Given the description of an element on the screen output the (x, y) to click on. 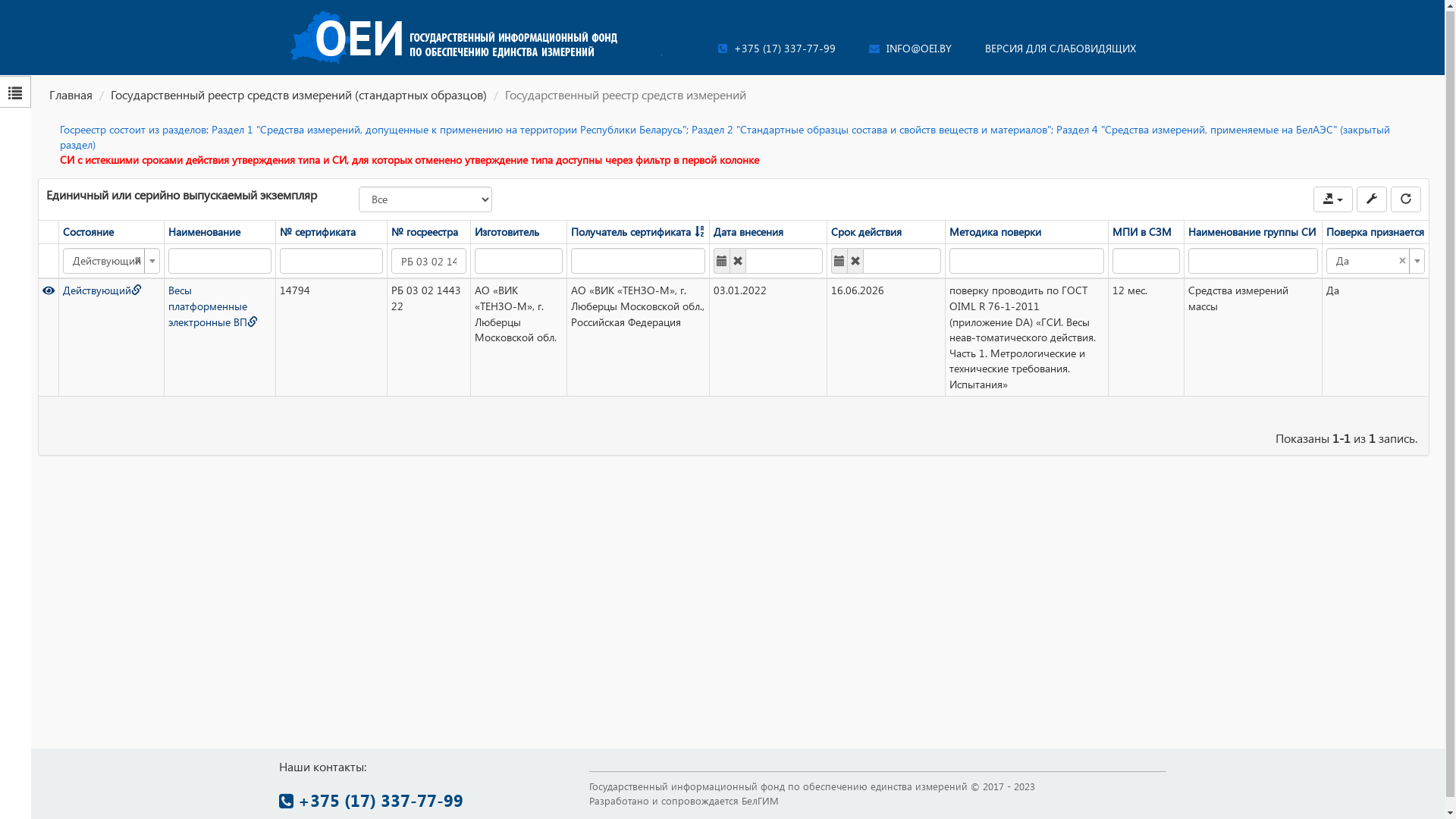
INFO@OEI.BY Element type: text (910, 48)
